Given the description of an element on the screen output the (x, y) to click on. 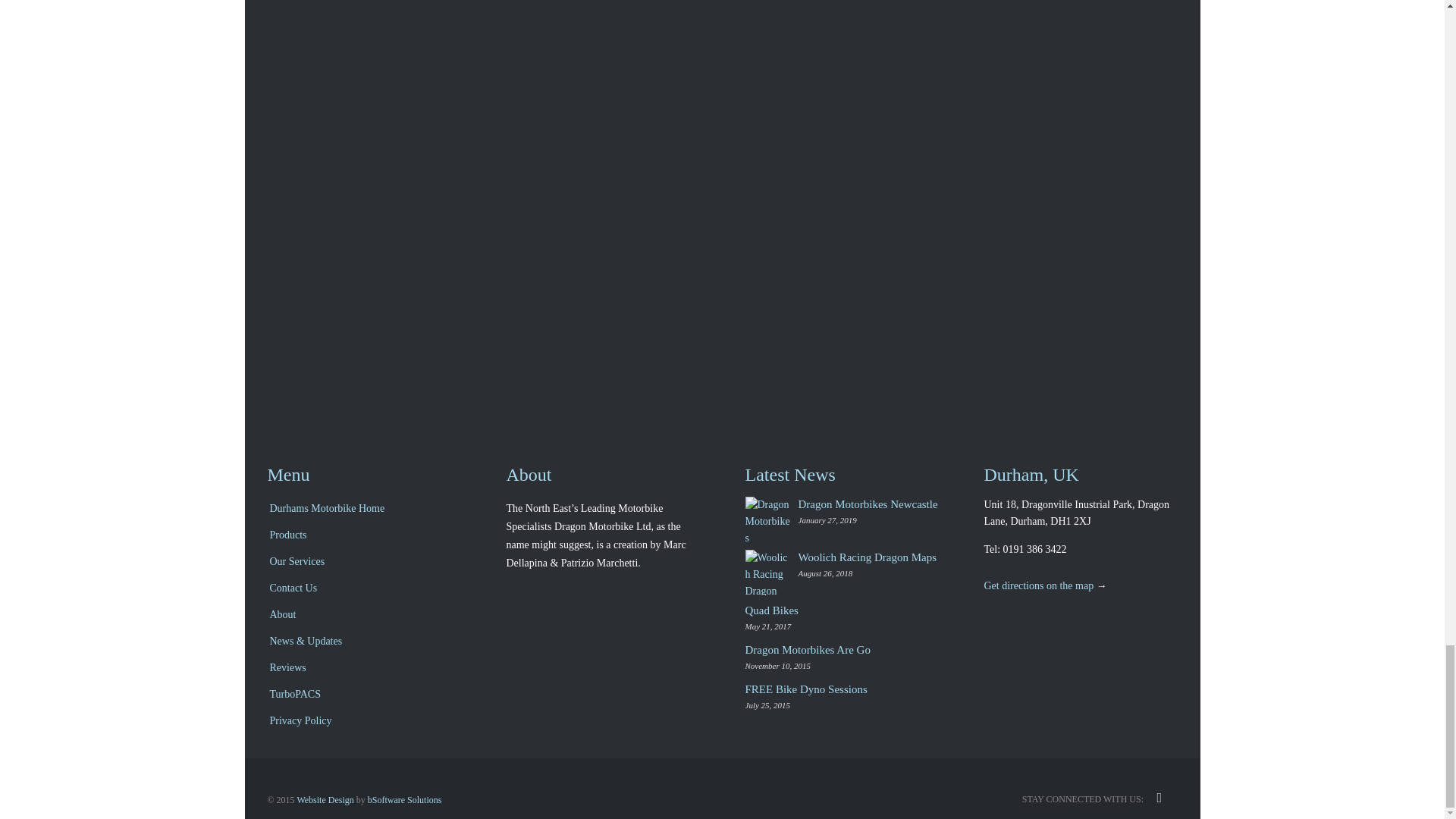
Our Services (363, 562)
Woolich Racing Dragon Maps (770, 572)
Dragon Motorbikes Are Go (806, 649)
Products (363, 536)
Dragon Motorbikes Newcastle (770, 519)
Contact Us (363, 589)
TurboPACS (363, 695)
Reviews (363, 669)
FREE Bike Dyno Sessions (805, 689)
Woolich Racing Dragon Maps (866, 557)
About (363, 615)
Dragon Motorbikes Newcastle (867, 503)
Durhams Motorbike Home (363, 509)
Quad Bikes (770, 610)
